Given the description of an element on the screen output the (x, y) to click on. 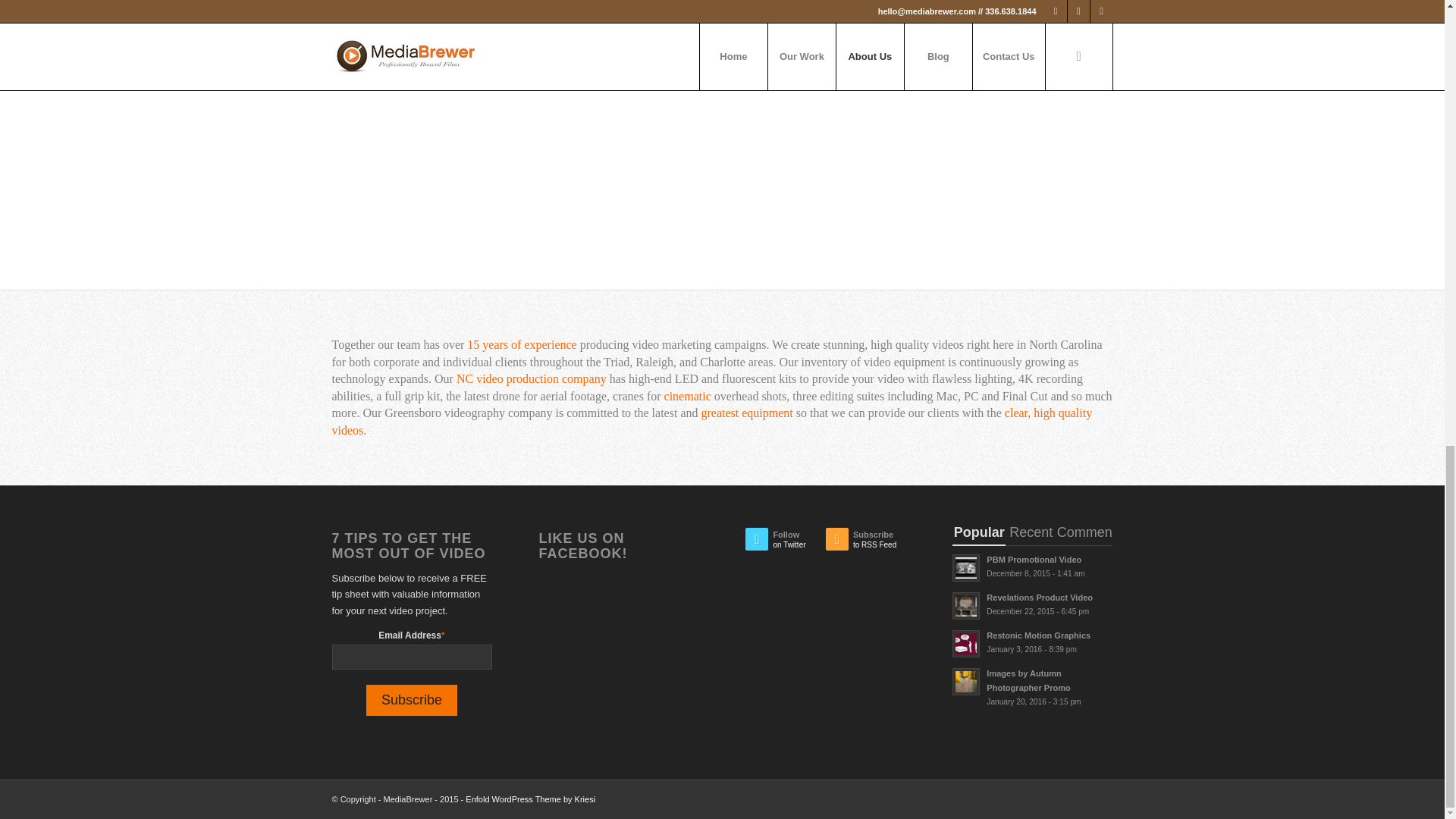
Subscribe (411, 699)
Subscribe (1032, 603)
